Given the description of an element on the screen output the (x, y) to click on. 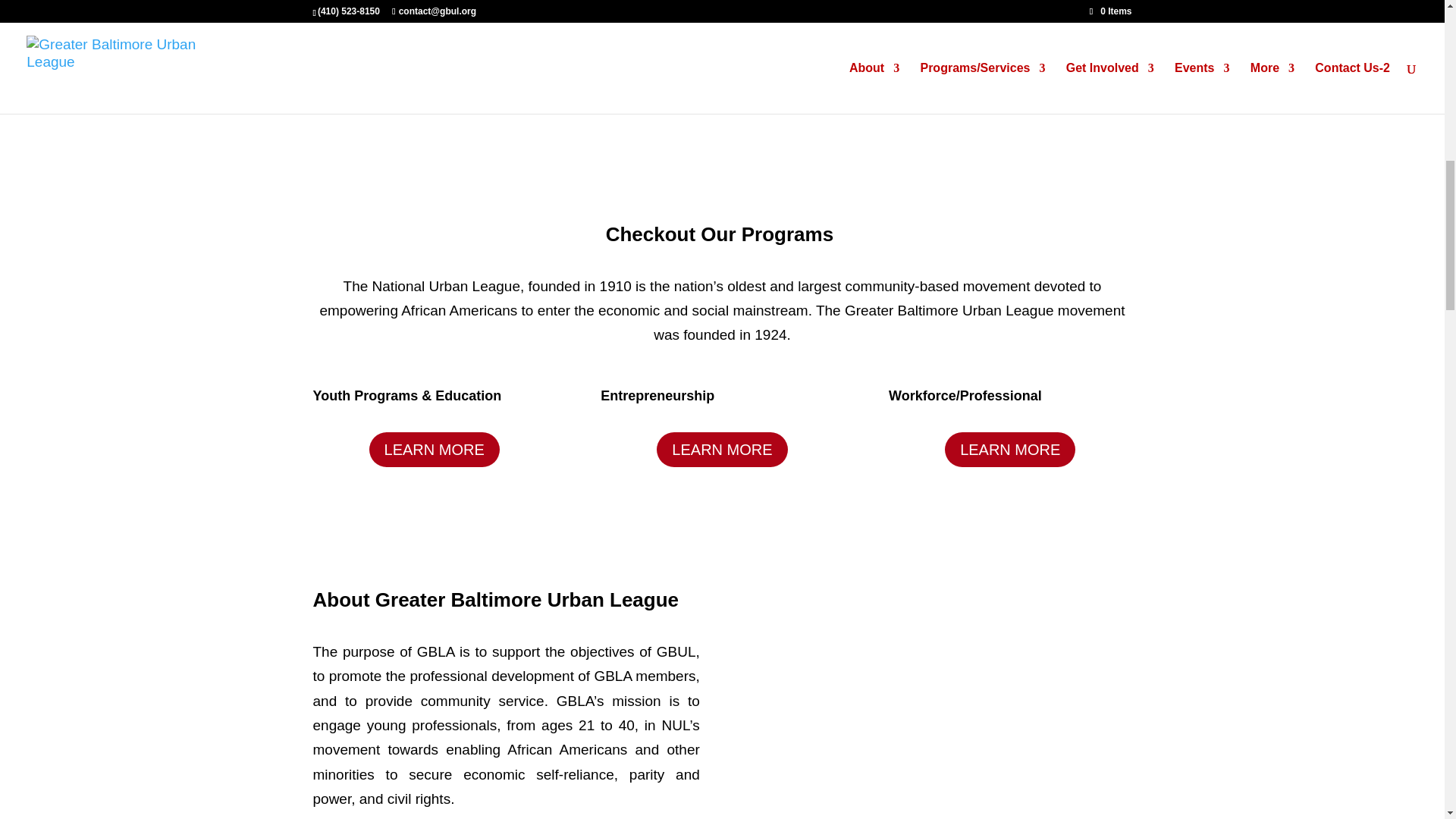
LEARN MORE (434, 449)
LEARN MORE (721, 449)
LEARN MORE (1009, 449)
